Given the description of an element on the screen output the (x, y) to click on. 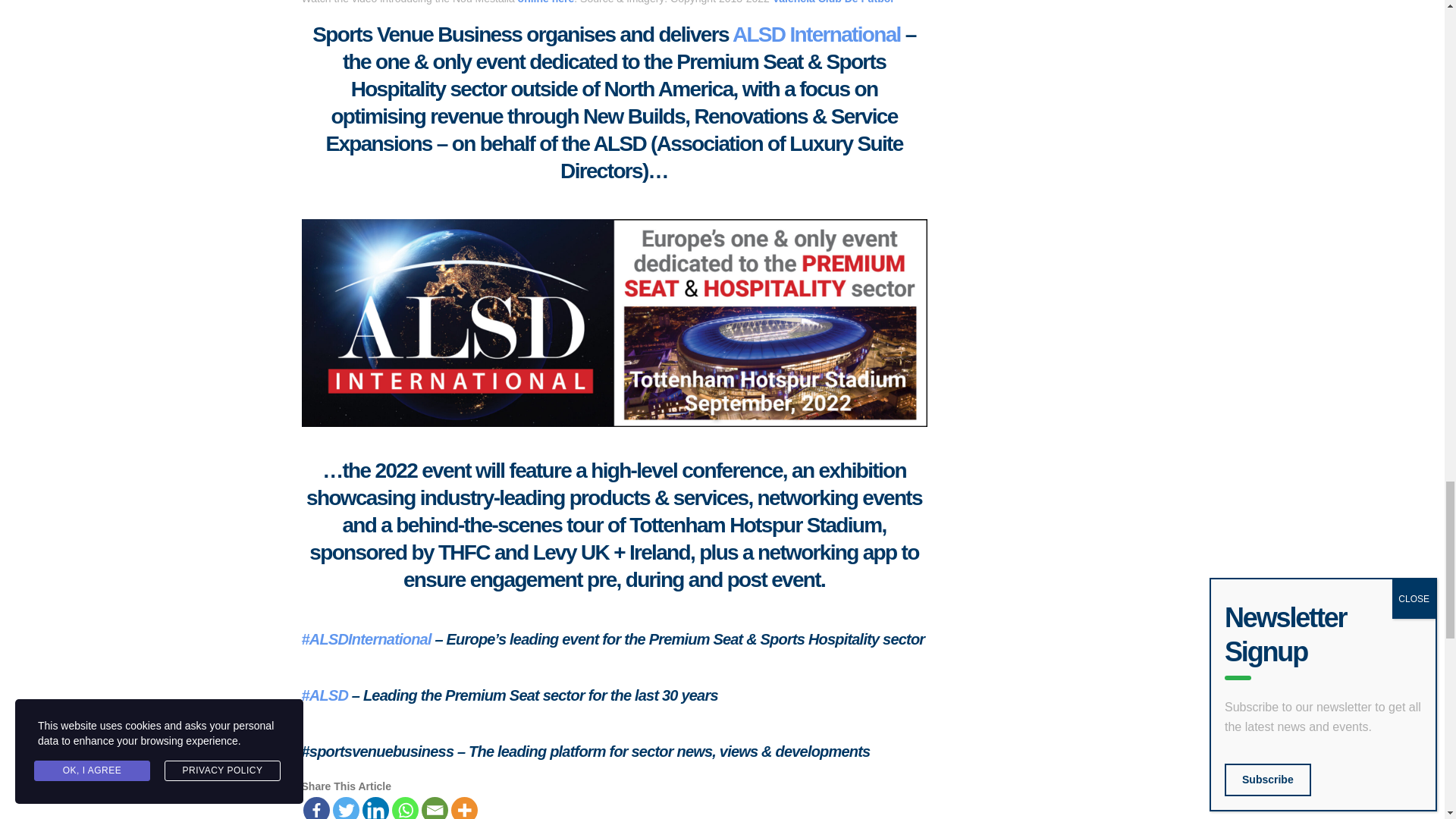
Linkedin (375, 807)
Facebook (316, 807)
More (463, 807)
Twitter (344, 807)
Email (435, 807)
Whatsapp (404, 807)
